Given the description of an element on the screen output the (x, y) to click on. 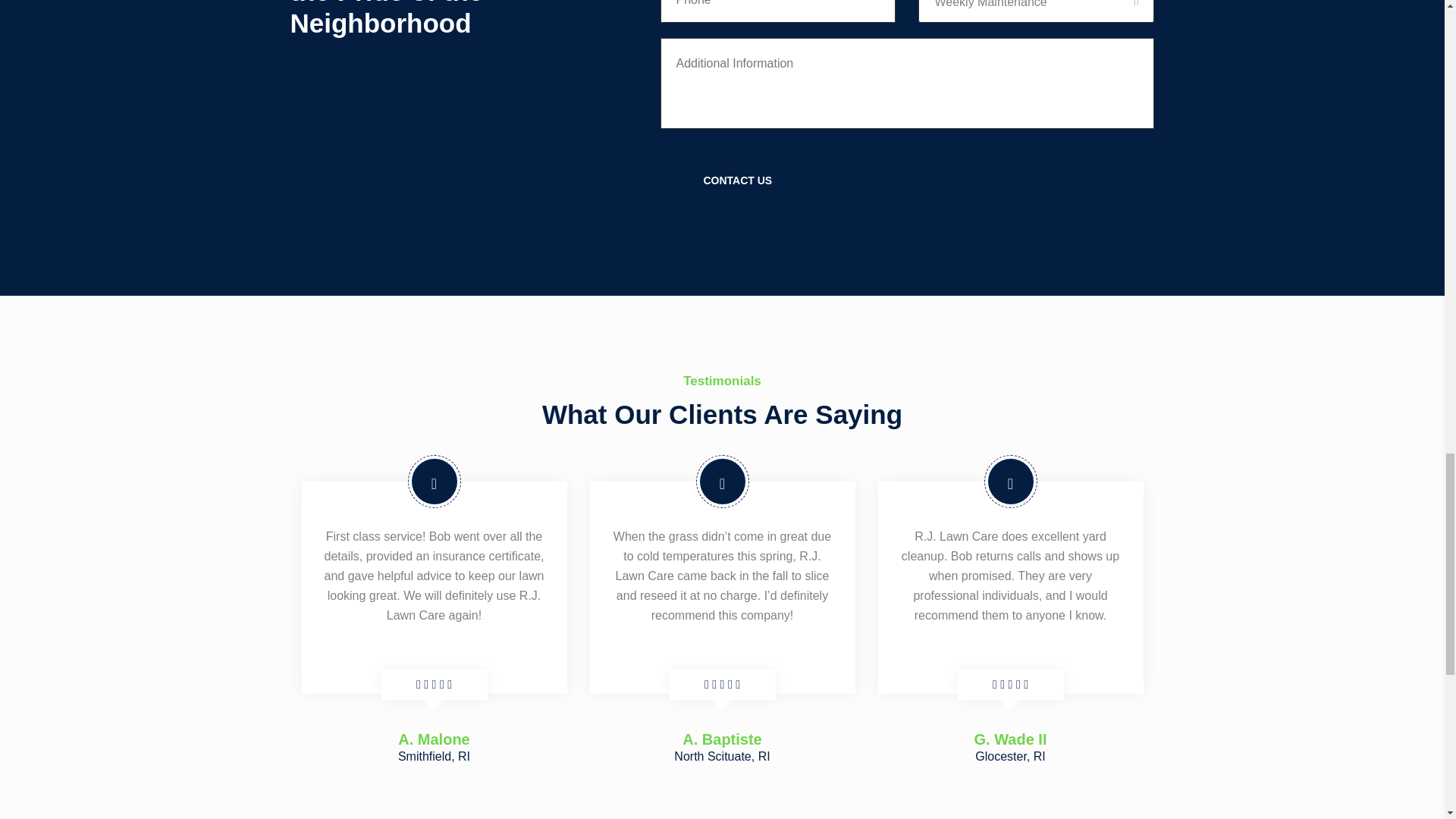
Contact Us (737, 180)
Contact Us (737, 180)
